Given the description of an element on the screen output the (x, y) to click on. 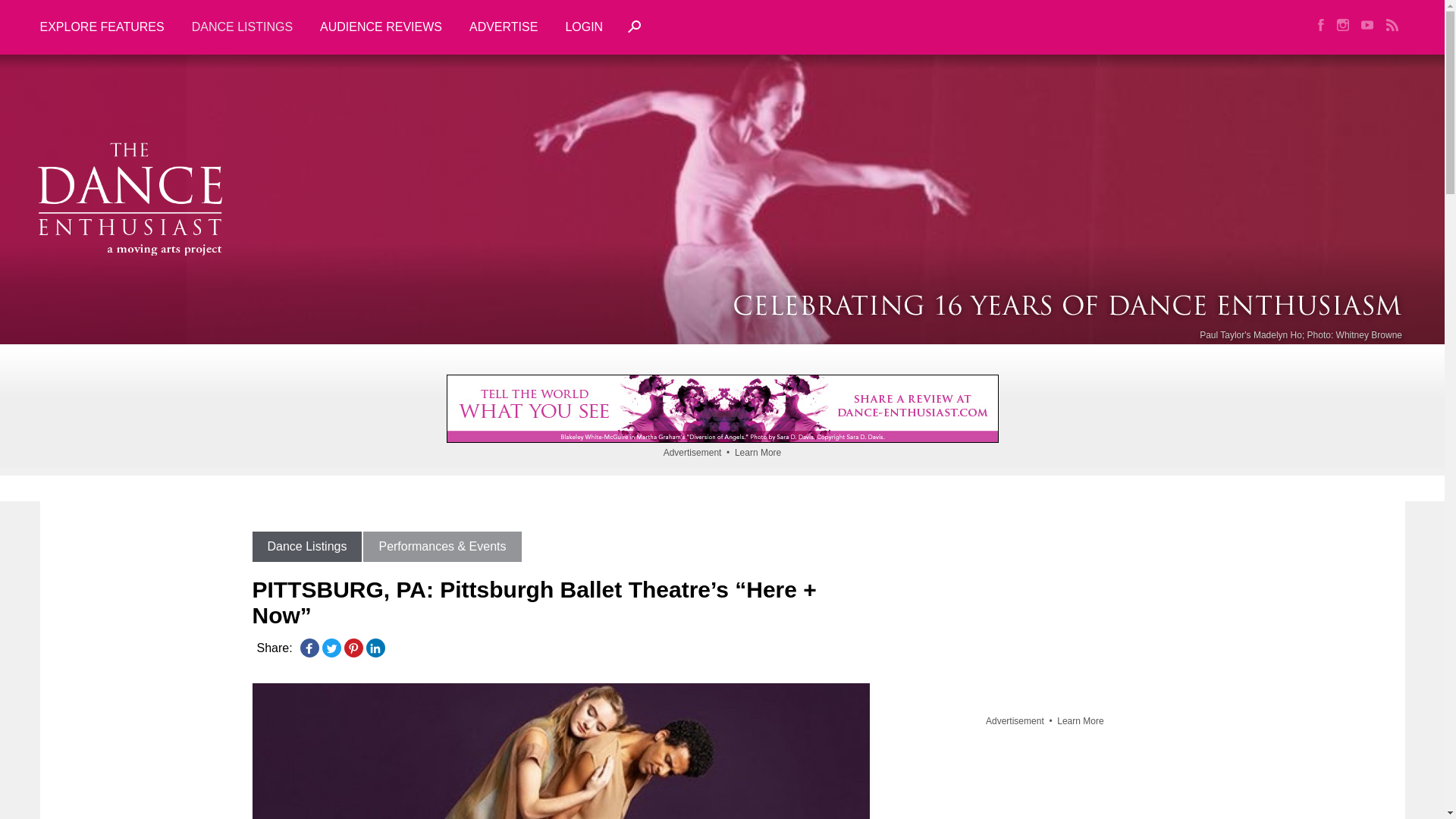
LinkedIn (375, 648)
LOGIN (583, 27)
Pinterest (353, 648)
ADVERTISE (503, 27)
EXPLORE FEATURES (108, 27)
Twitter (331, 648)
Facebook (309, 648)
DANCE LISTINGS (241, 27)
AUDIENCE REVIEWS (380, 27)
